Given the description of an element on the screen output the (x, y) to click on. 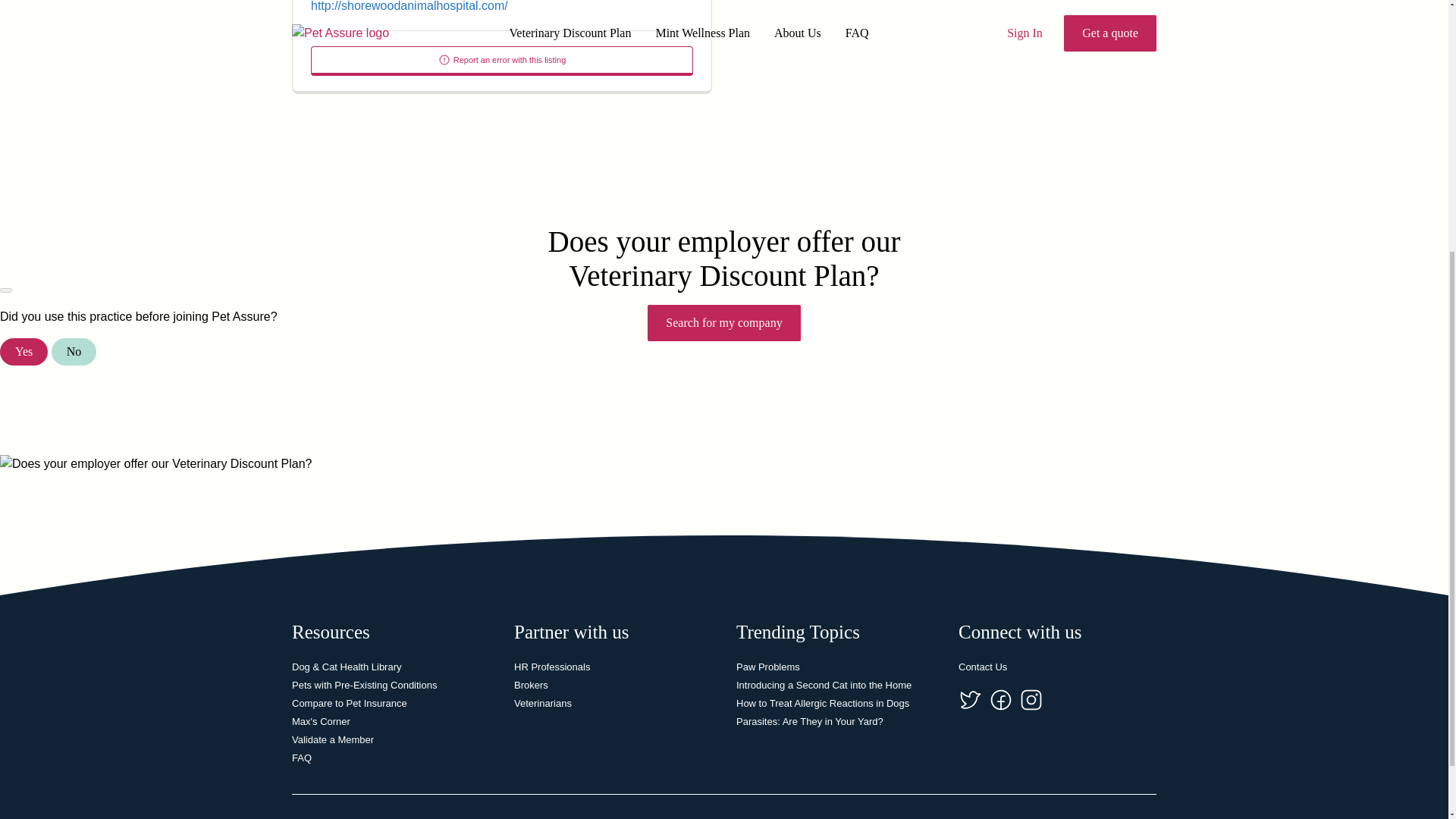
Report an error with this listing (502, 60)
Pets with Pre-Existing Conditions (364, 685)
HR Professionals (551, 666)
Compare to Pet Insurance (349, 703)
Max's Corner (321, 721)
Contact Us (982, 666)
Brokers (530, 685)
Validate a Member (333, 739)
Search for my company (723, 322)
Introducing a Second Cat into the Home (823, 685)
